Given the description of an element on the screen output the (x, y) to click on. 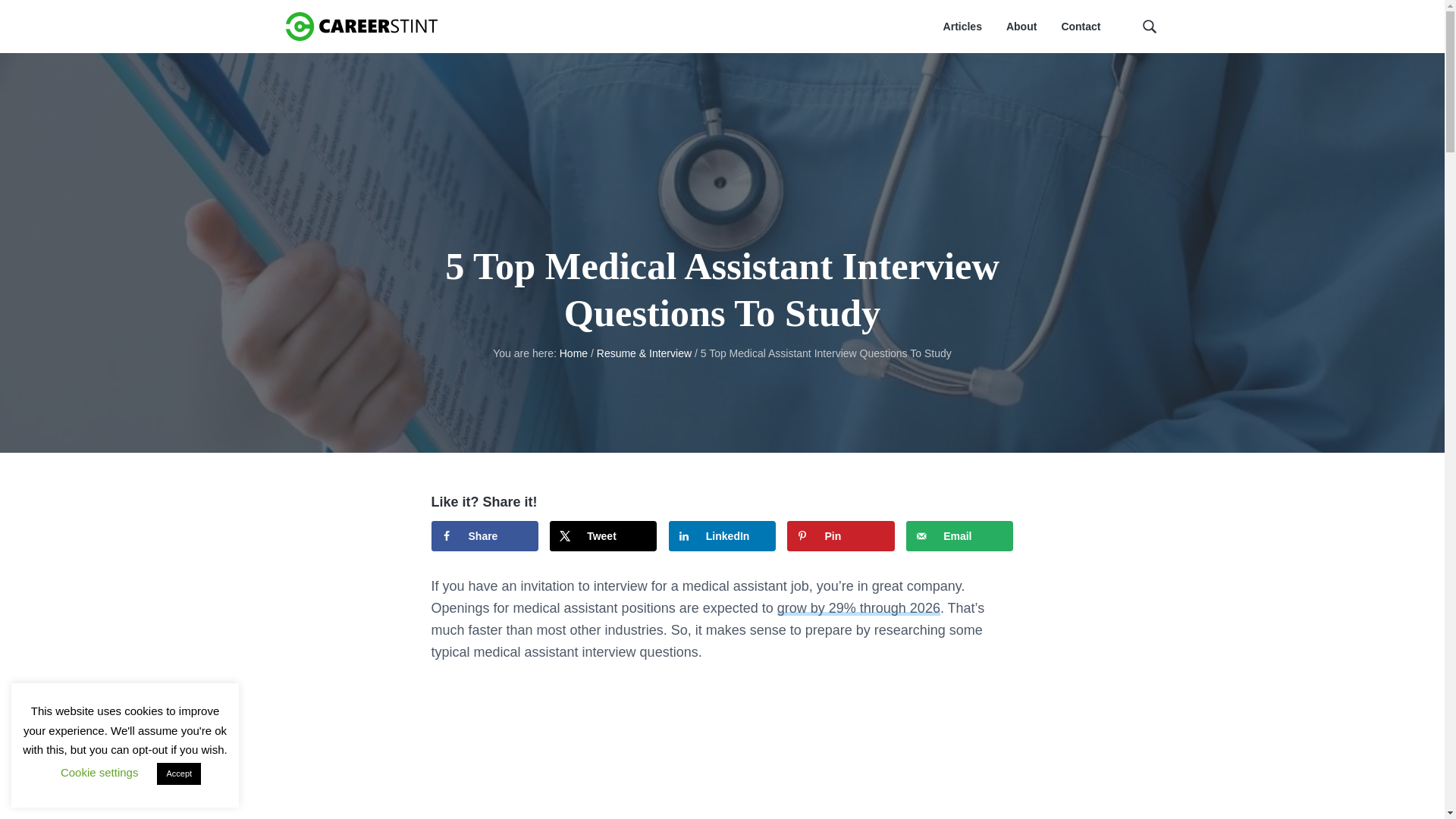
Contact (1080, 27)
About (1021, 27)
Pin (840, 535)
Cookie settings (99, 771)
Email (959, 535)
LinkedIn (722, 535)
Share on LinkedIn (722, 535)
Save to Pinterest (840, 535)
Share on Facebook (483, 535)
